Given the description of an element on the screen output the (x, y) to click on. 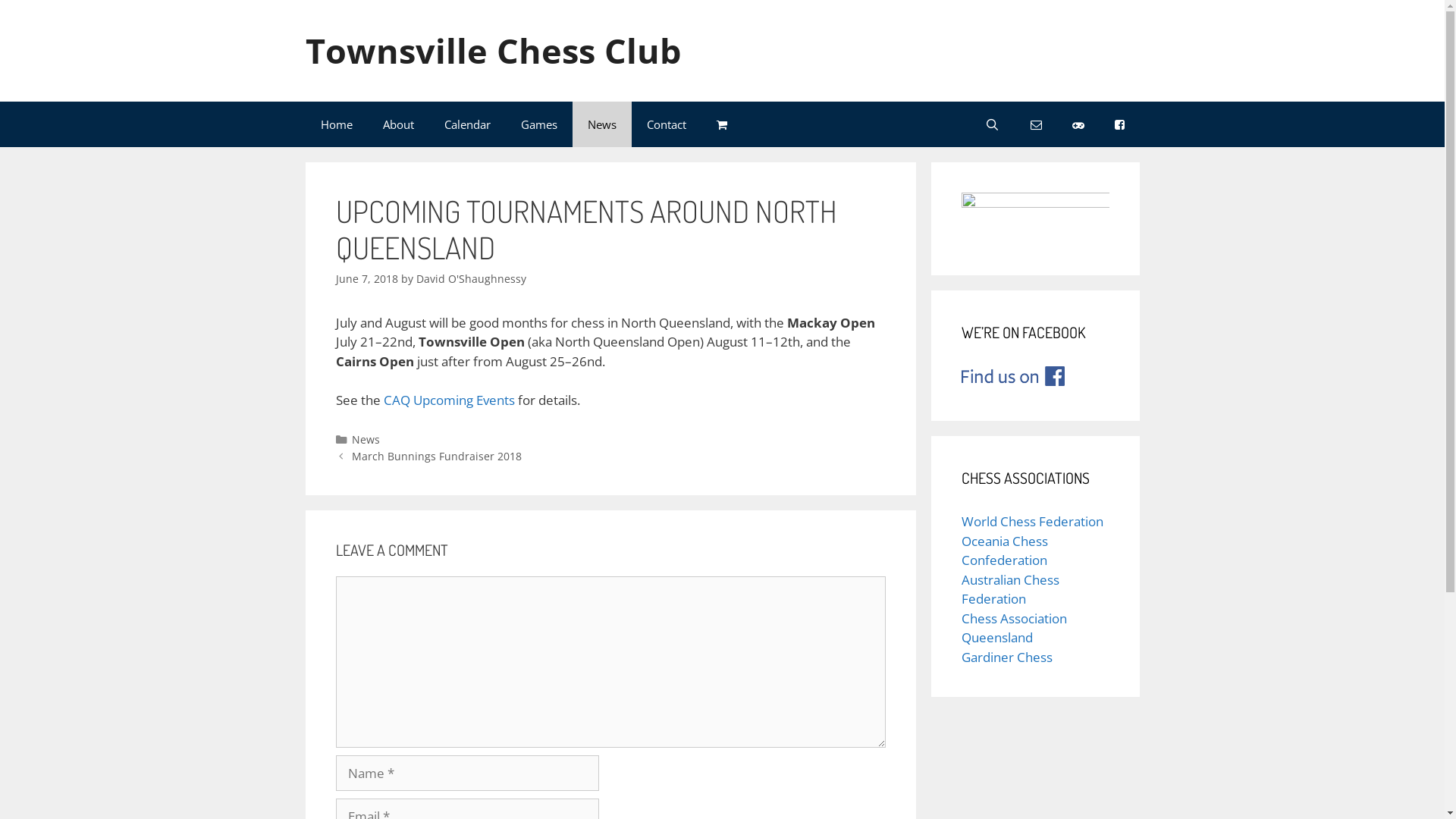
Gardiner Chess Element type: text (1006, 656)
Oceania Chess Confederation Element type: text (1004, 550)
CAQ Upcoming Events Element type: text (448, 399)
Games Element type: text (538, 124)
News Element type: text (600, 124)
World Chess Federation Element type: text (1032, 521)
Calendar Element type: text (467, 124)
David O'Shaughnessy Element type: text (470, 278)
Chess Association Queensland Element type: text (1013, 627)
About Element type: text (397, 124)
News Element type: text (365, 439)
March Bunnings Fundraiser 2018 Element type: text (436, 455)
Home Element type: text (335, 124)
Townsville Chess Club Element type: text (492, 50)
Australian Chess Federation Element type: text (1010, 589)
Contact Element type: text (665, 124)
